Given the description of an element on the screen output the (x, y) to click on. 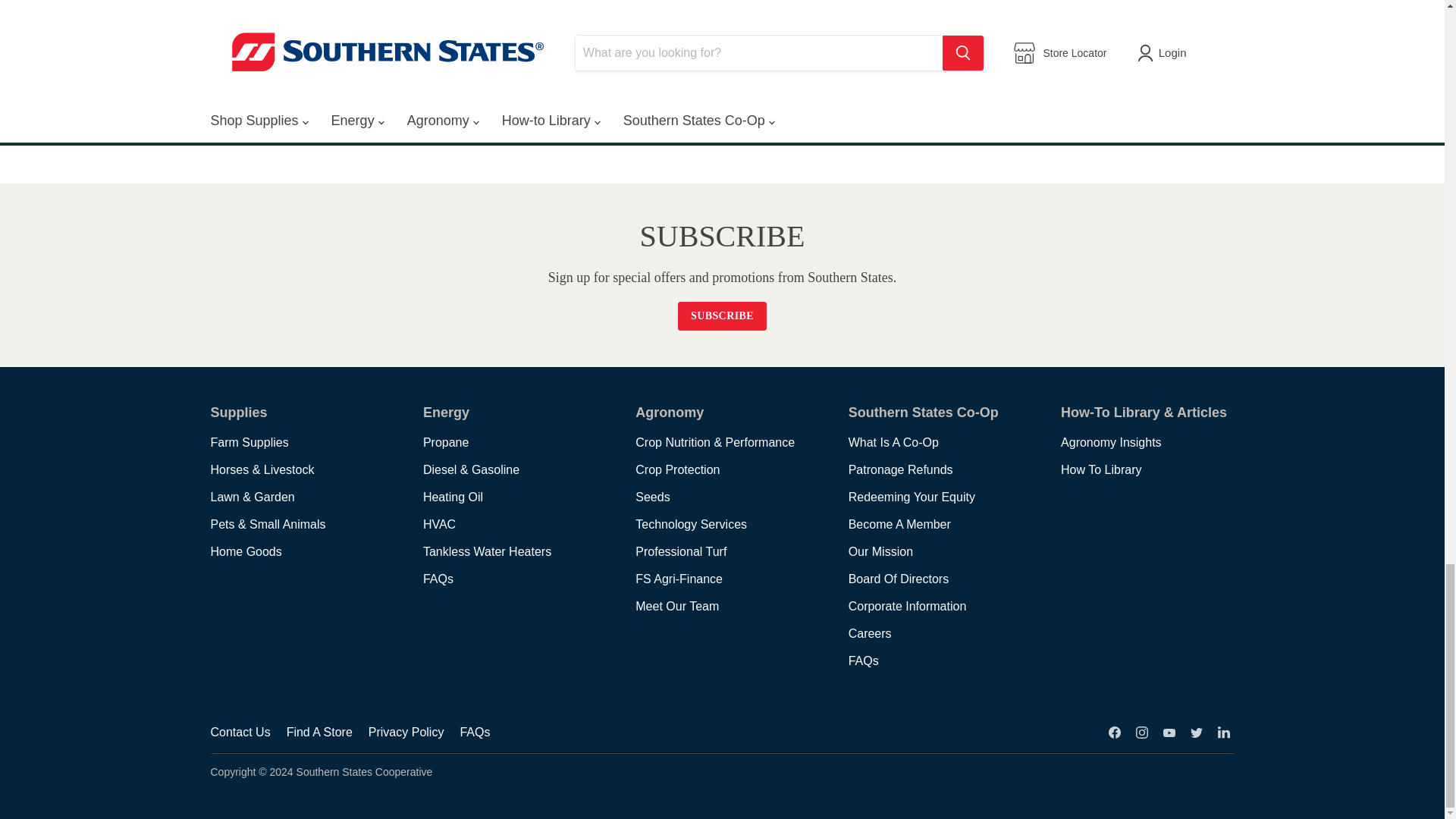
Facebook (1114, 731)
Instagram (1142, 731)
YouTube (1168, 731)
LinkedIn (1223, 731)
Twitter (1196, 731)
